Given the description of an element on the screen output the (x, y) to click on. 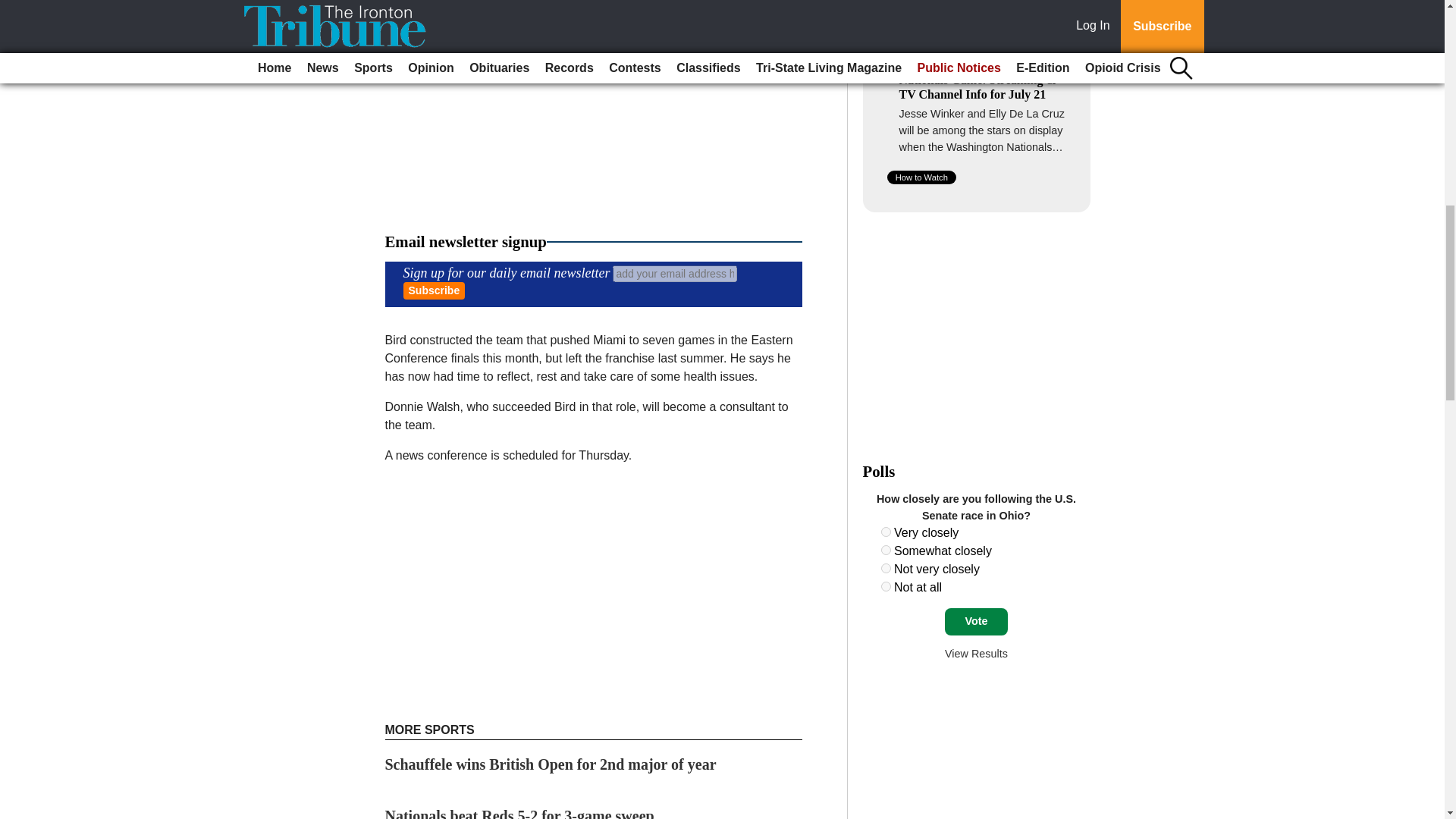
Nationals beat Reds 5-2 for 3-game sweep (519, 813)
Nationals beat Reds 5-2 for 3-game sweep (519, 813)
1432 (885, 532)
How to Watch (921, 177)
1434 (885, 568)
View Results Of This Poll (975, 653)
   Vote    (975, 621)
Schauffele wins British Open for 2nd major of year (550, 764)
1433 (885, 550)
View Results (975, 653)
Schauffele wins British Open for 2nd major of year (550, 764)
1435 (885, 586)
Subscribe (434, 290)
Subscribe (434, 290)
